Given the description of an element on the screen output the (x, y) to click on. 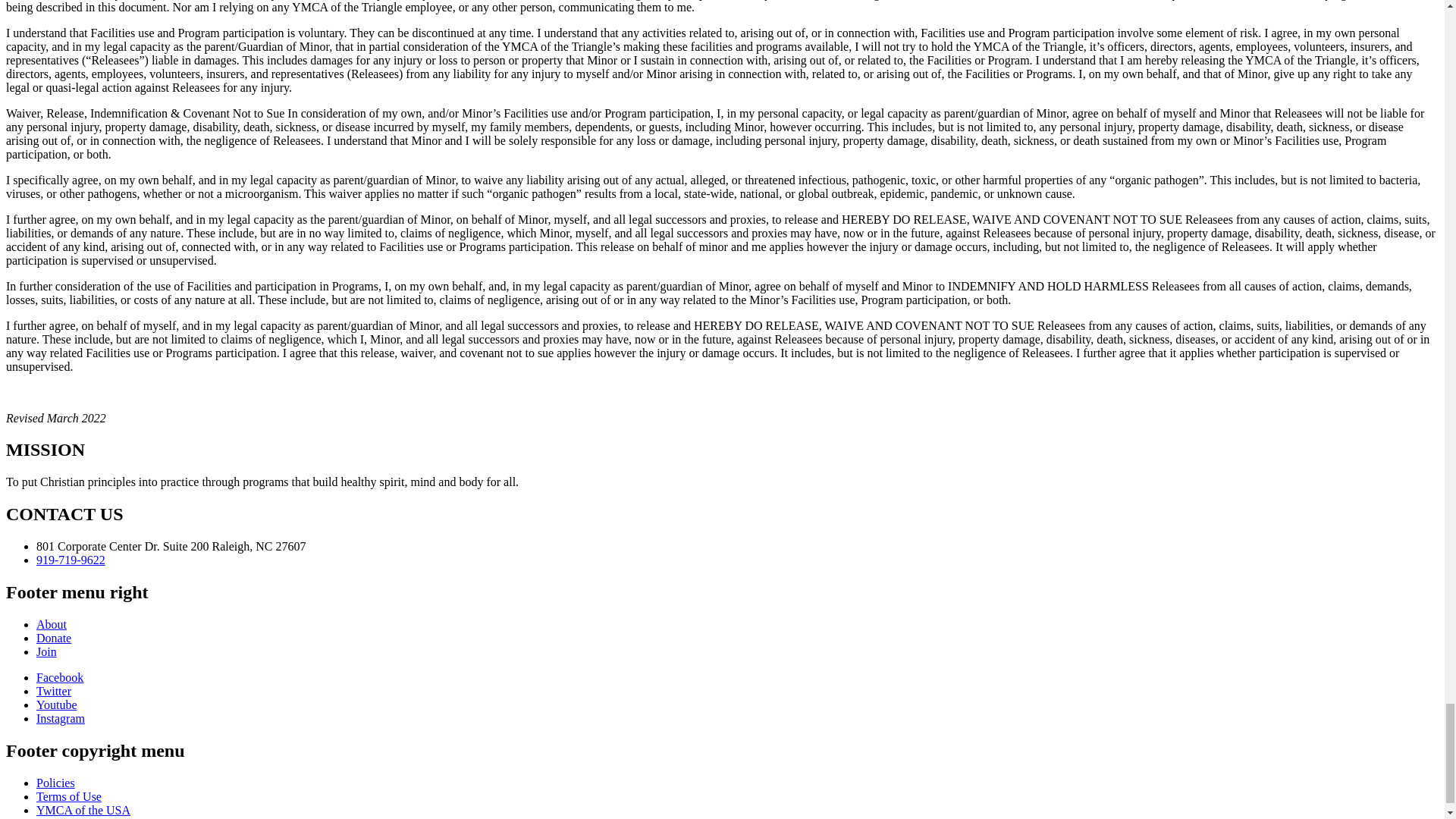
Go to YMCA Youtube channel (56, 704)
Go to YMCA Twitter (53, 690)
Go to YMCA Facebook (59, 676)
Go to YMCA Instagram channel (60, 717)
